Given the description of an element on the screen output the (x, y) to click on. 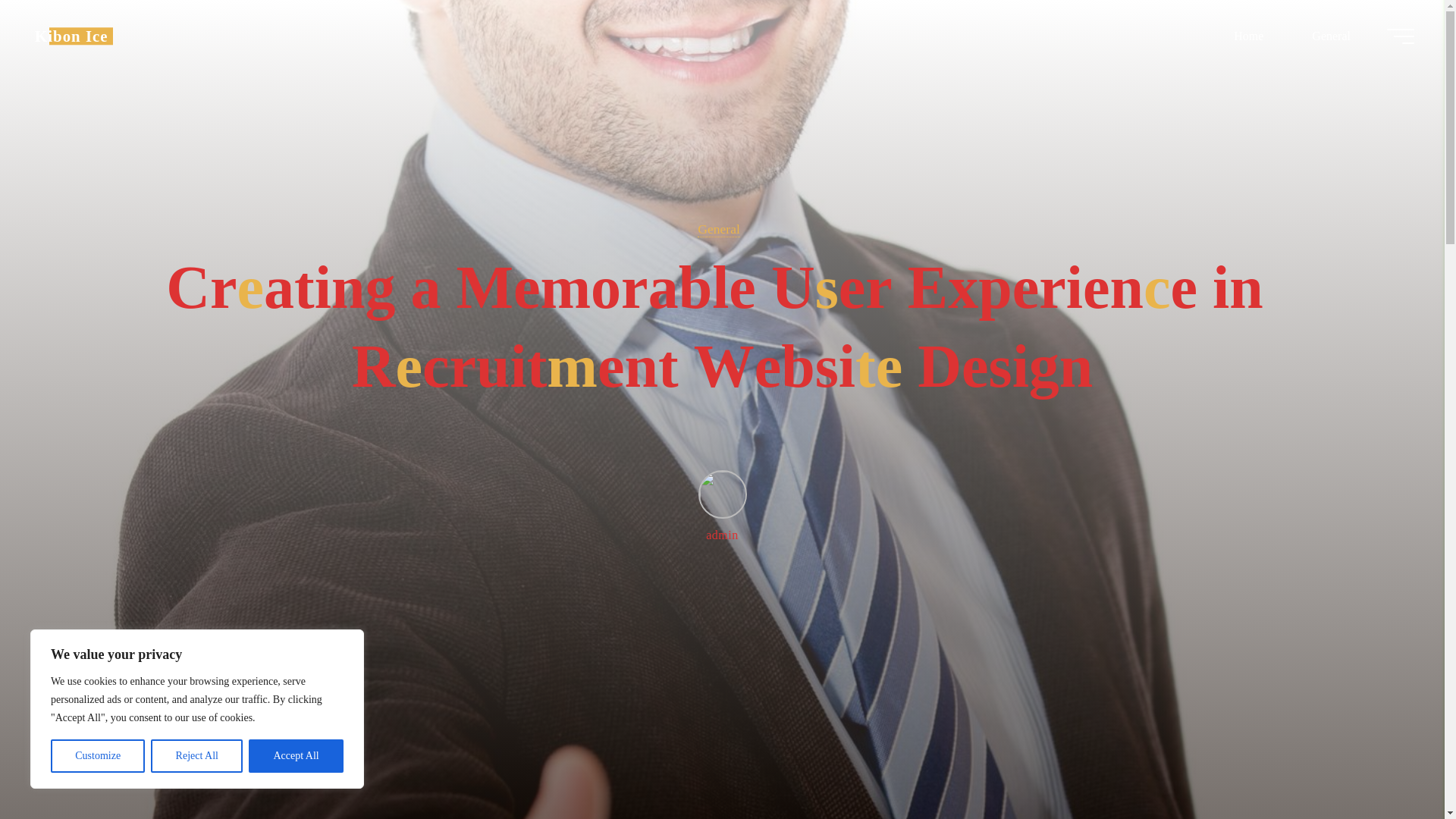
Blog (71, 36)
General (718, 229)
General (1330, 35)
Home (1248, 35)
Reject All (197, 756)
Accept All (295, 756)
Customize (97, 756)
Kibon Ice (71, 36)
Read more (721, 724)
